Given the description of an element on the screen output the (x, y) to click on. 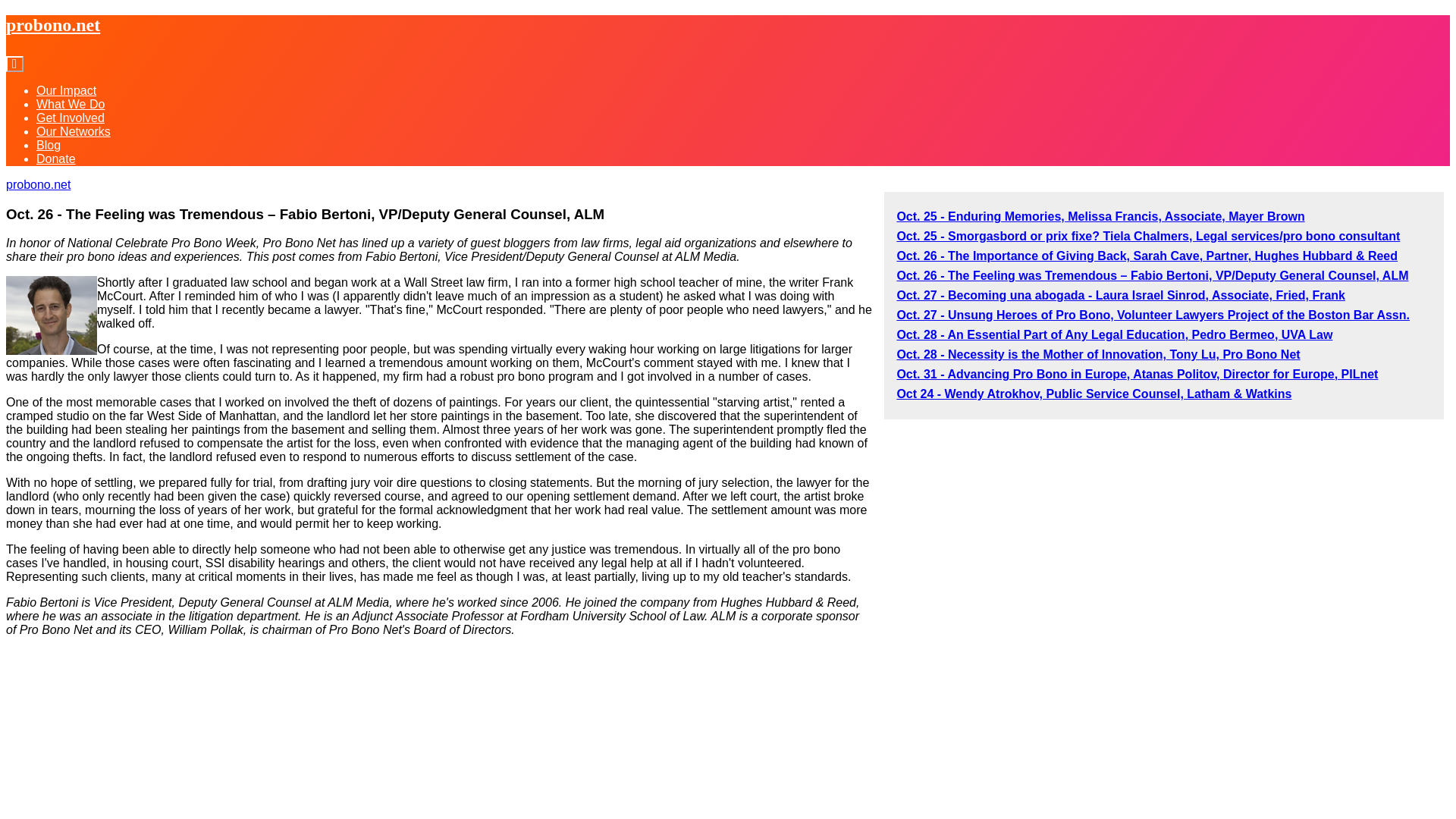
Our Networks (73, 131)
Donate (55, 158)
Our Impact (66, 90)
Blog (48, 144)
What We Do (70, 103)
Get Involved (70, 117)
probono.net (37, 184)
